Given the description of an element on the screen output the (x, y) to click on. 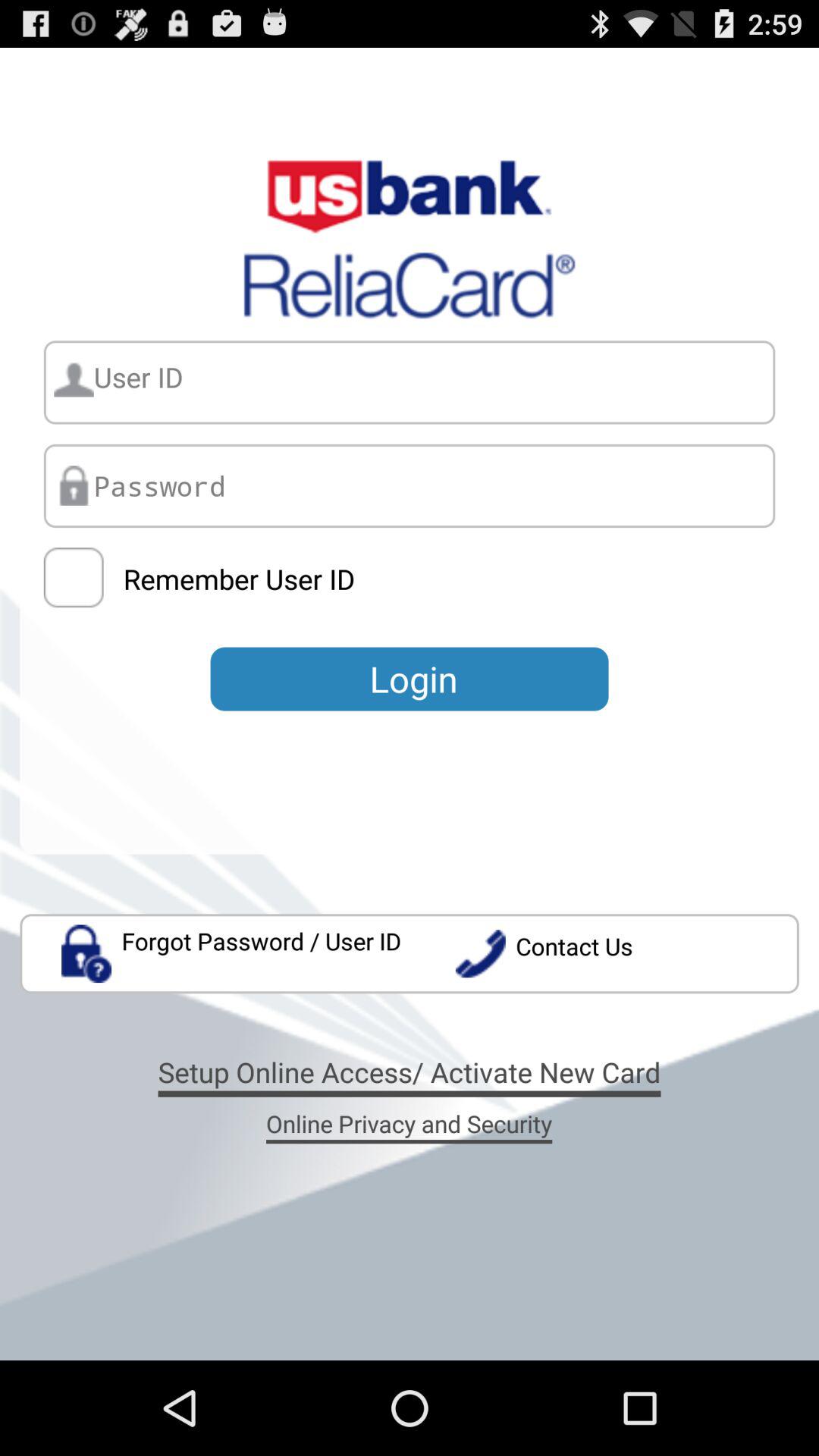
choose the item above forgot password user icon (73, 577)
